Given the description of an element on the screen output the (x, y) to click on. 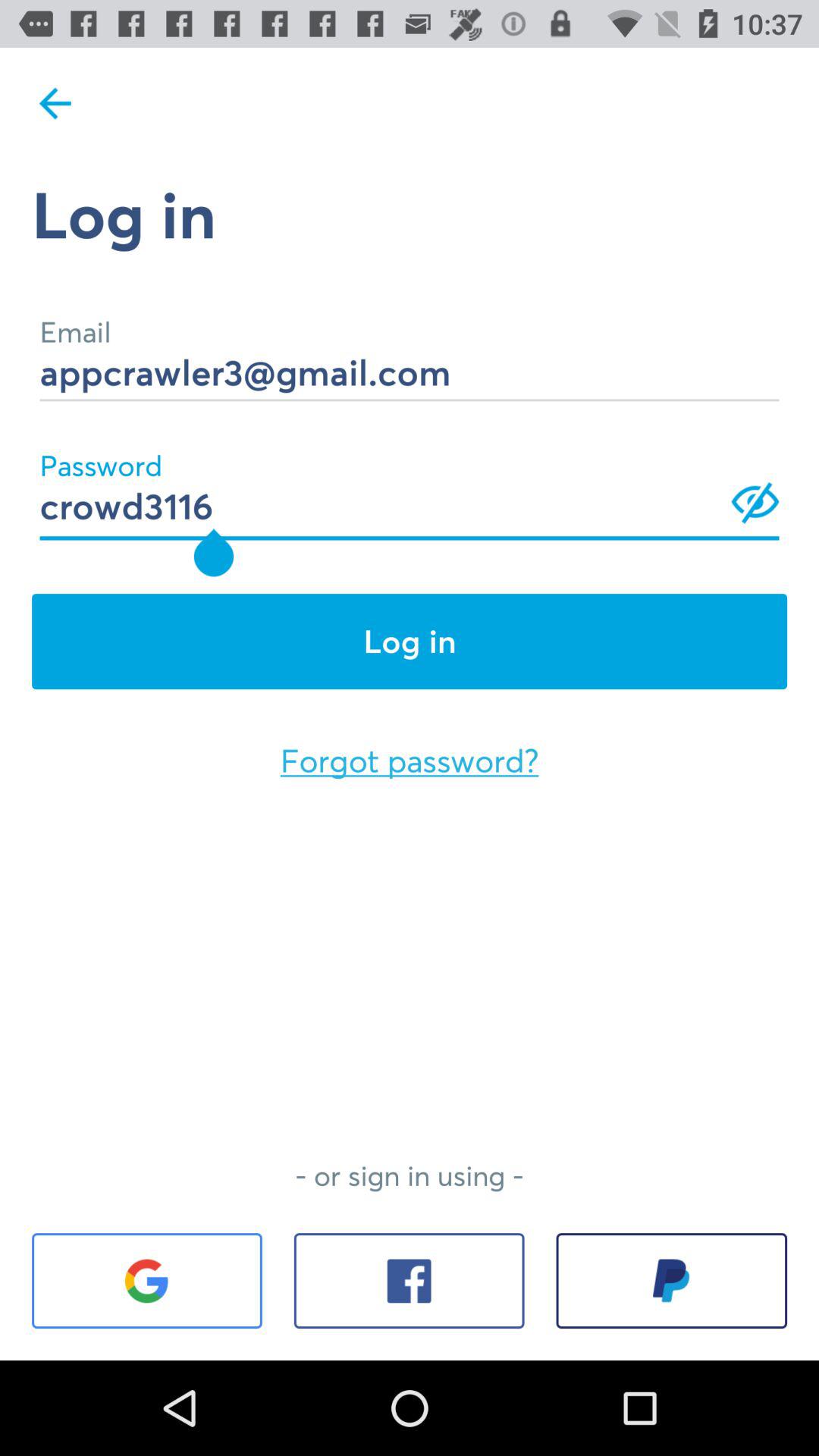
launch icon below the log in (409, 760)
